Given the description of an element on the screen output the (x, y) to click on. 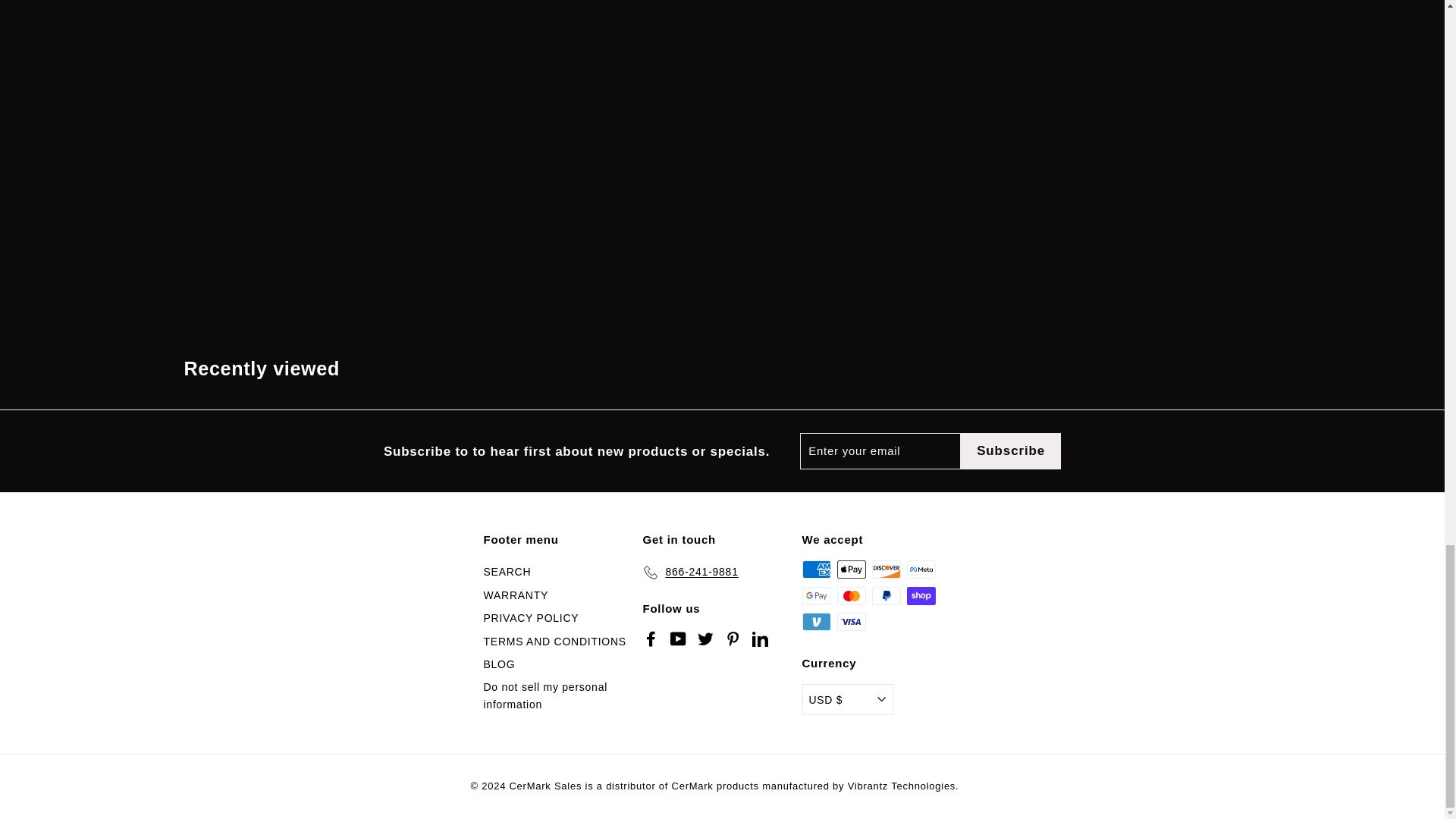
Discover (886, 569)
Google Pay (816, 596)
Shop Pay (921, 596)
American Express (816, 569)
Apple Pay (851, 569)
PayPal (886, 596)
CerMark Sales on YouTube (677, 638)
CerMark Sales on Pinterest (733, 638)
Venmo (816, 621)
Meta Pay (921, 569)
Visa (851, 621)
CerMark Sales on LinkedIn (760, 638)
CerMark Sales on Twitter (705, 638)
Mastercard (851, 596)
CerMark Sales on Facebook (651, 638)
